Given the description of an element on the screen output the (x, y) to click on. 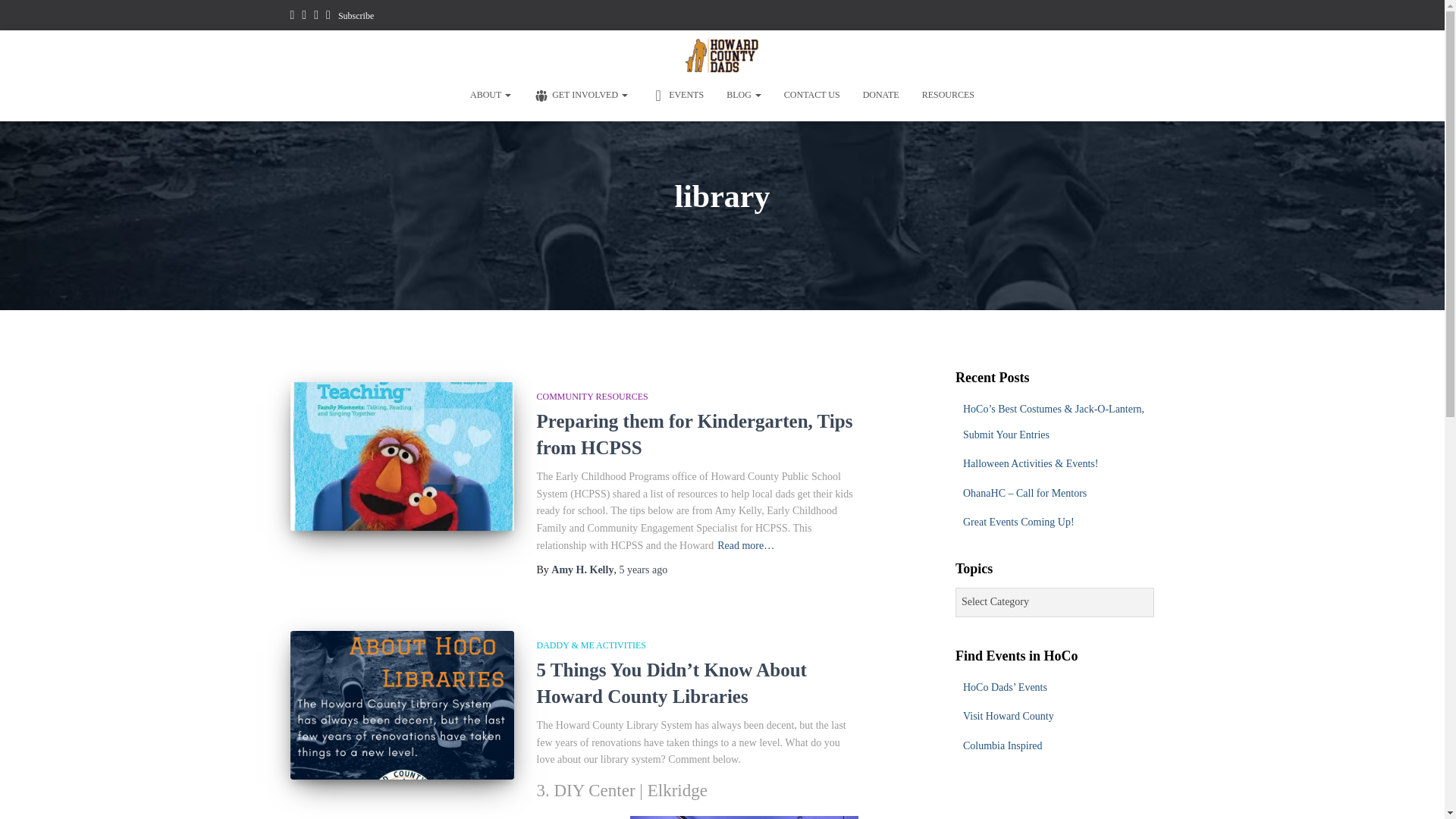
Preparing them for Kindergarten, Tips from HCPSS (695, 434)
Amy H. Kelly (581, 569)
Blog (743, 94)
Subscribe (355, 15)
Howard County Dads (722, 56)
Subscribe (355, 15)
Visit Howard County (1008, 715)
RESOURCES (948, 94)
CONTACT US (812, 94)
COMMUNITY RESOURCES (592, 396)
